Given the description of an element on the screen output the (x, y) to click on. 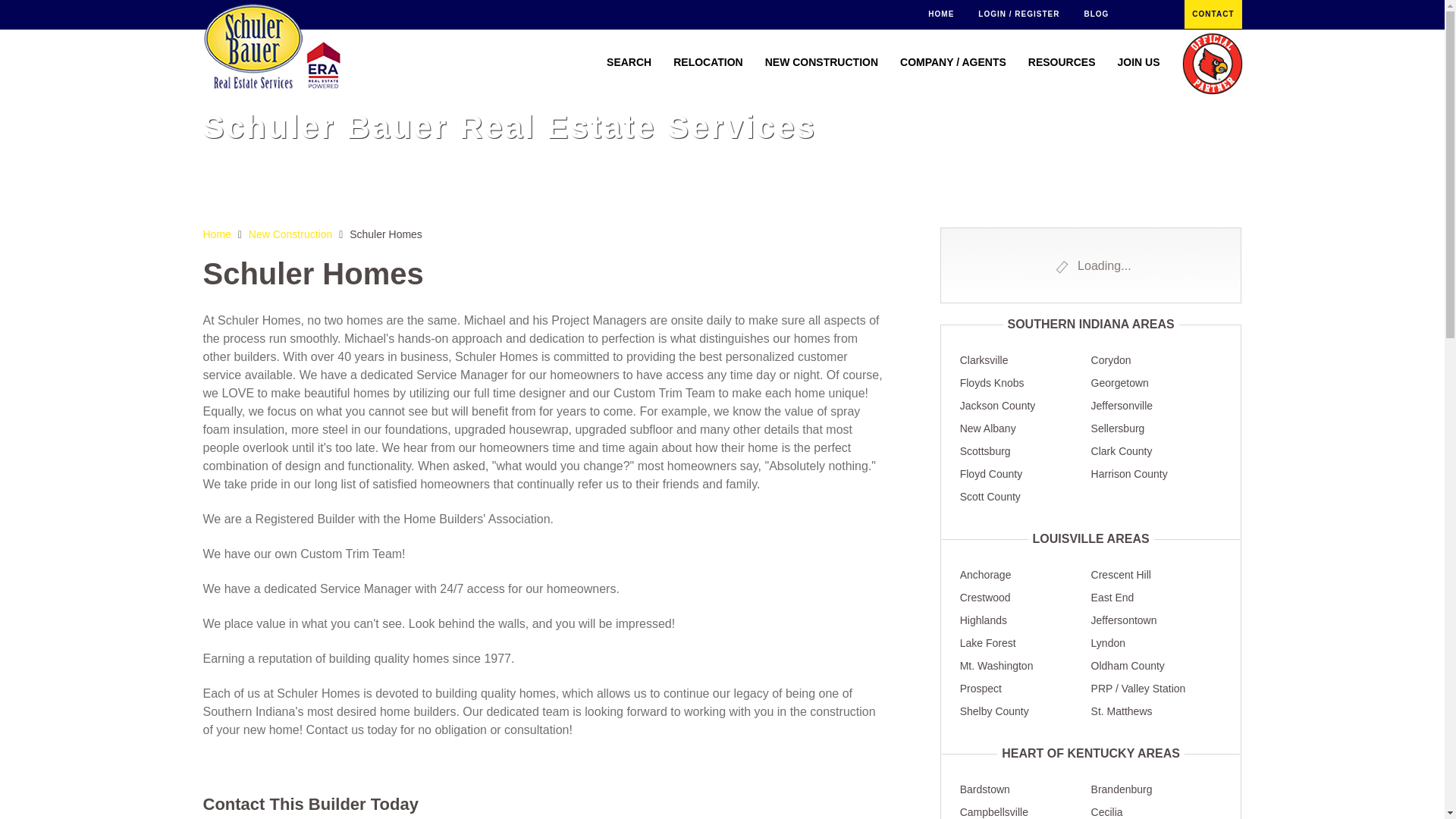
NEW CONSTRUCTION (827, 62)
BLOG (1096, 13)
RELOCATION (714, 62)
SEARCH (634, 62)
JOIN US (1144, 62)
HOME (940, 13)
CONTACT (1213, 14)
RESOURCES (1067, 62)
